Given the description of an element on the screen output the (x, y) to click on. 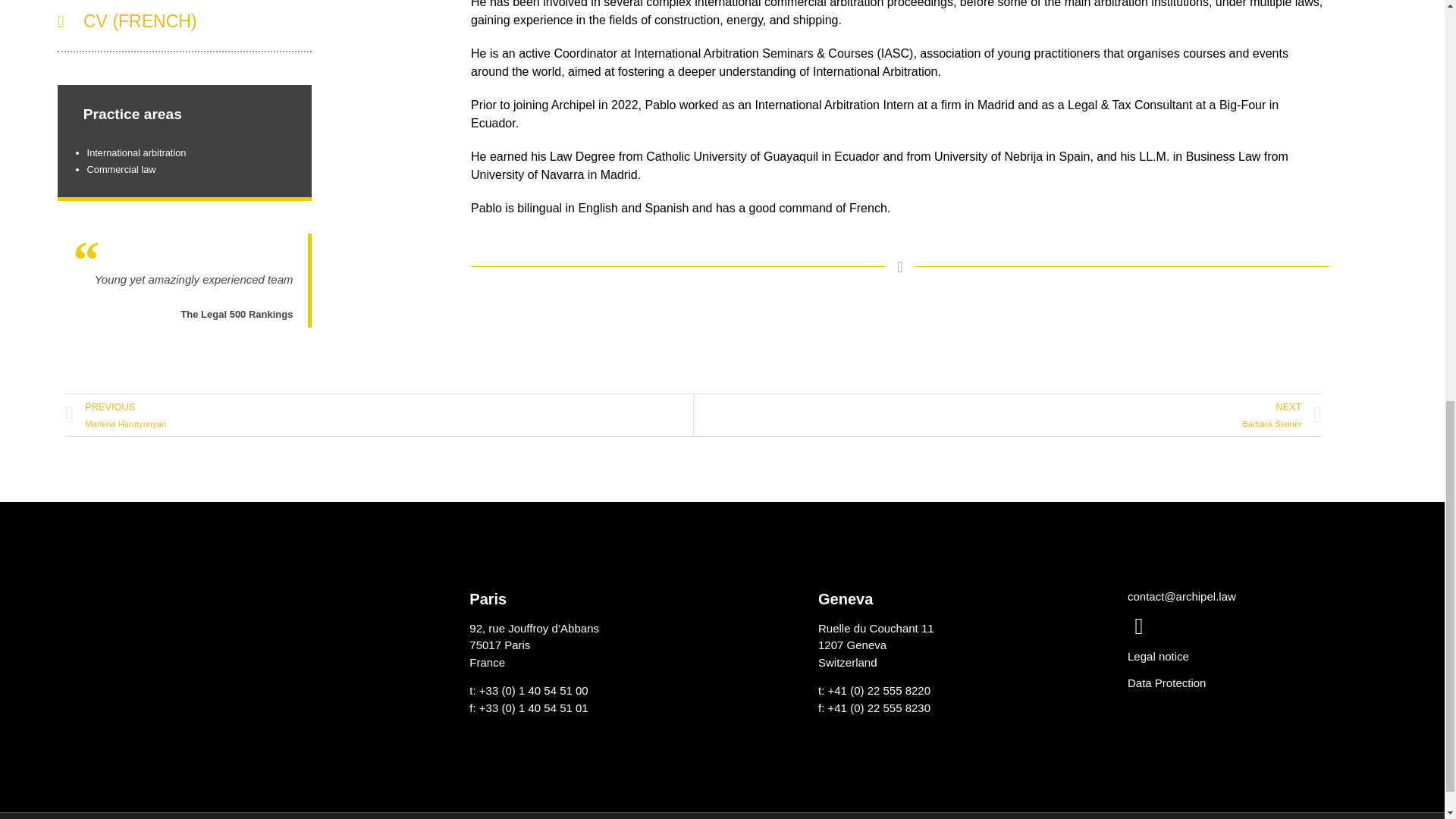
Data Protection (1165, 682)
Legal notice (1157, 656)
Linkedin-in (1138, 626)
